Given the description of an element on the screen output the (x, y) to click on. 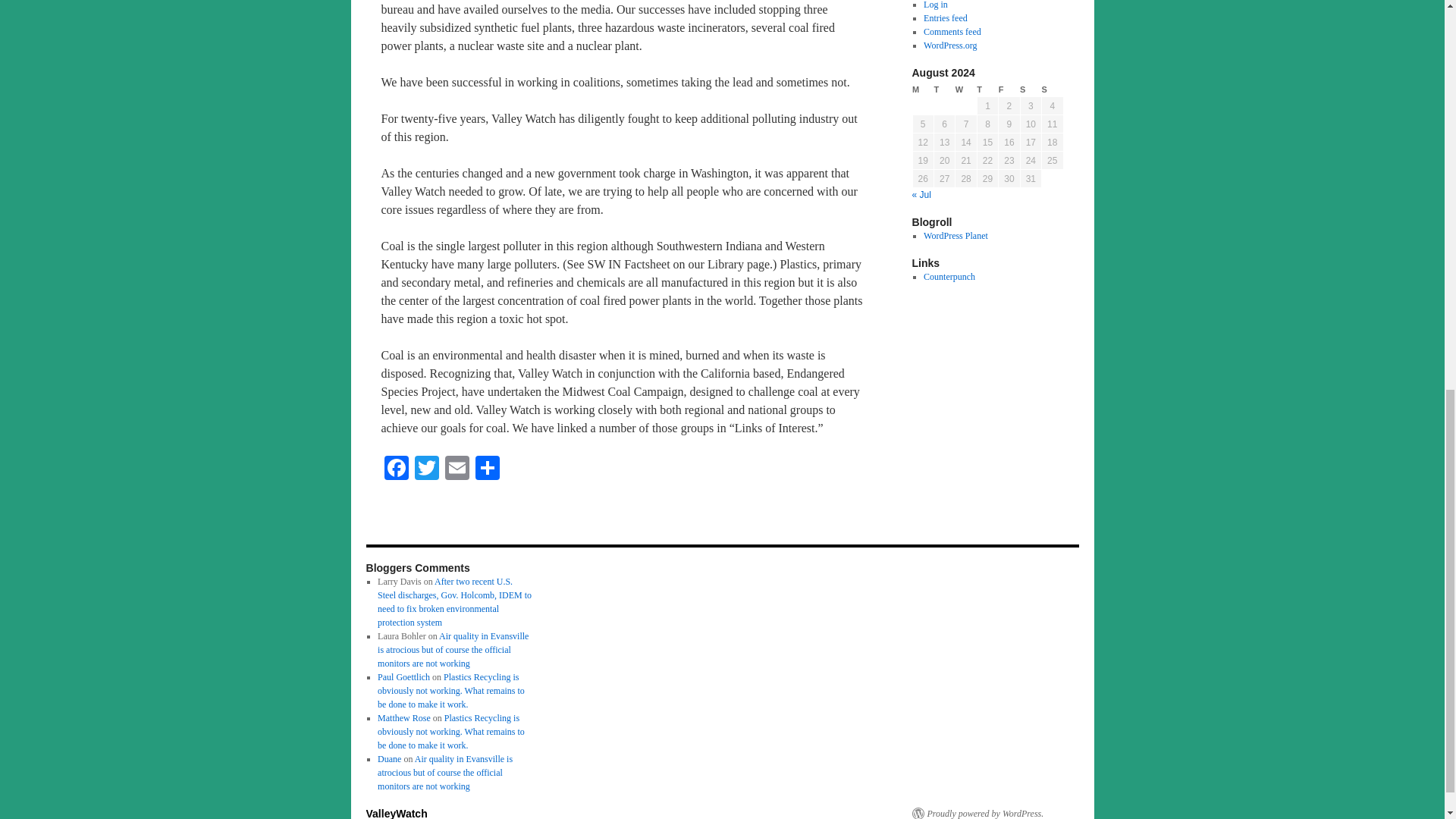
Facebook (395, 469)
Email (456, 469)
Saturday (1030, 89)
Thursday (986, 89)
Twitter (425, 469)
Email (456, 469)
Twitter (425, 469)
Sunday (1052, 89)
Facebook (395, 469)
Friday (1009, 89)
